Given the description of an element on the screen output the (x, y) to click on. 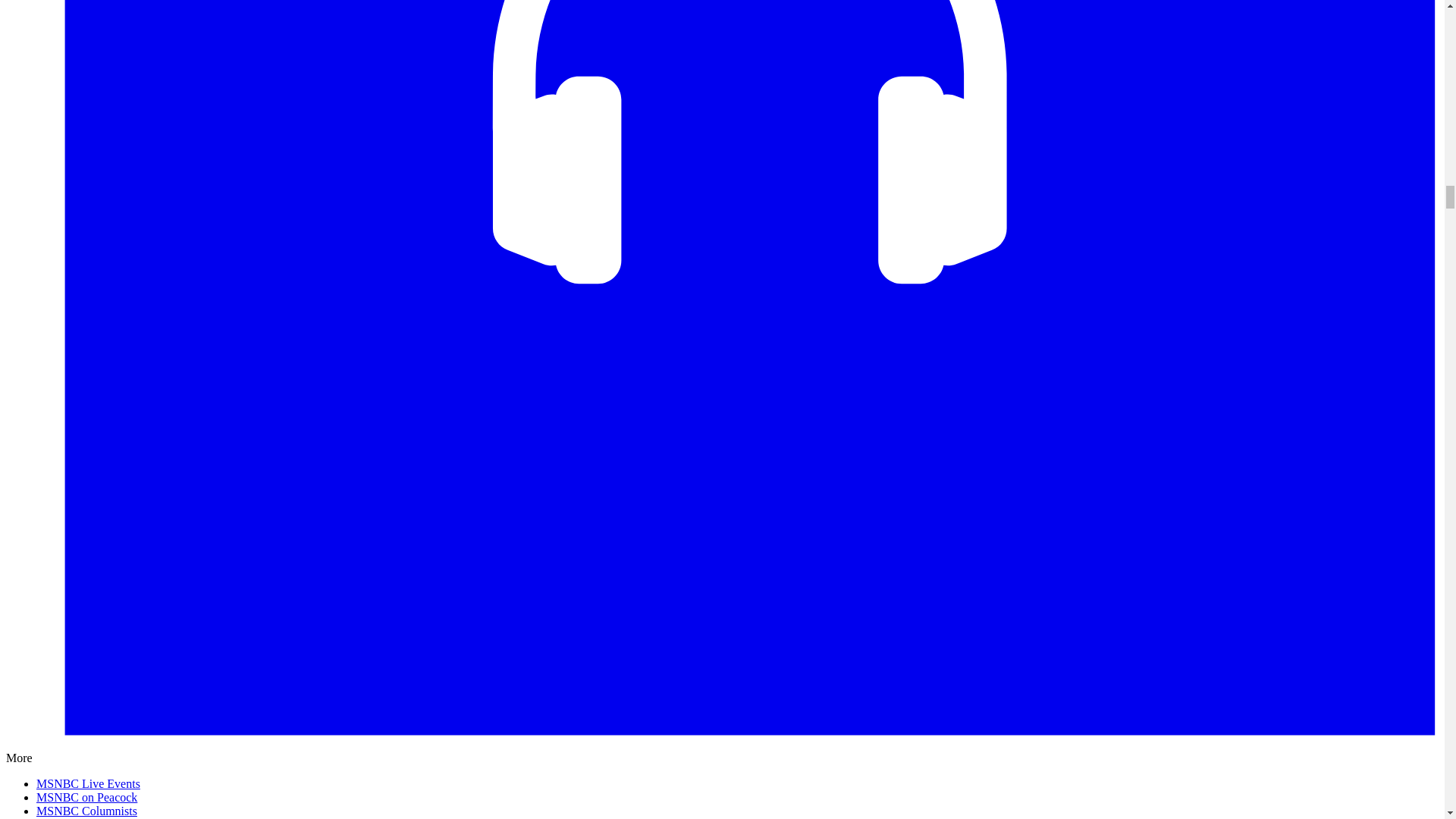
MSNBC Live Events (87, 783)
MSNBC on Peacock (86, 797)
